Given the description of an element on the screen output the (x, y) to click on. 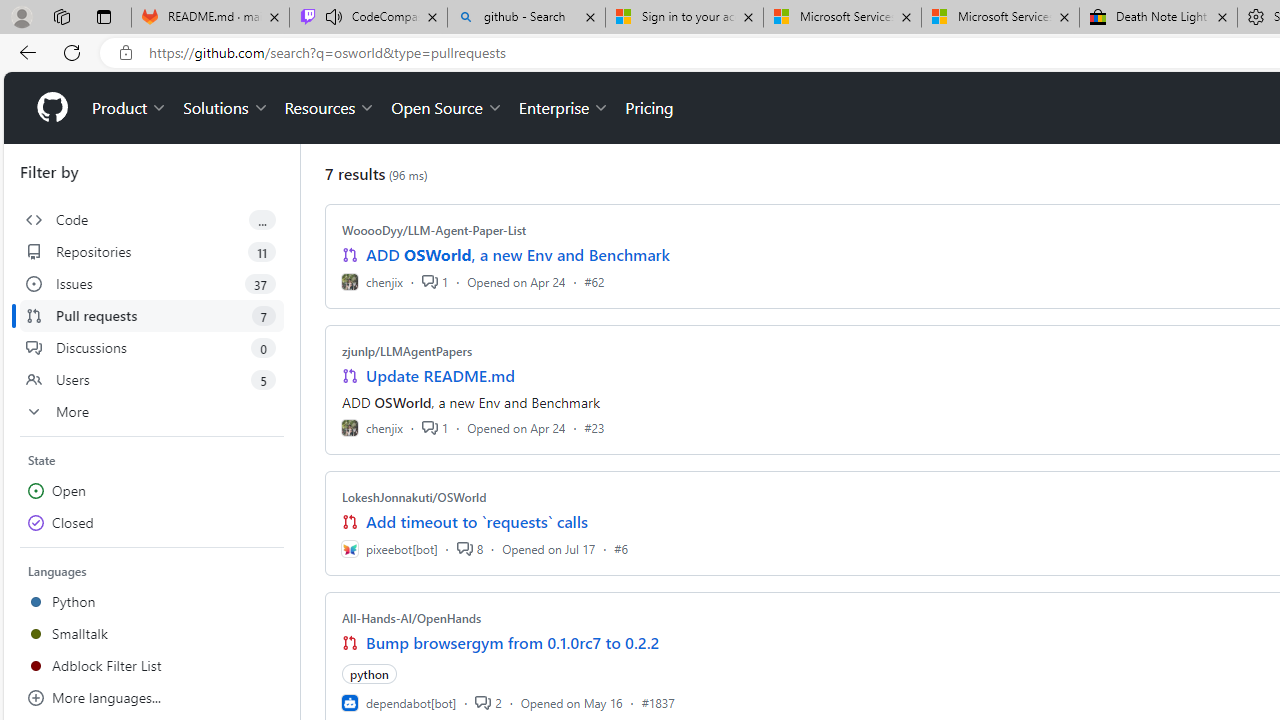
All-Hands-AI/OpenHands (411, 618)
1 (435, 427)
Sign in to your account (683, 17)
Pricing (649, 107)
